Given the description of an element on the screen output the (x, y) to click on. 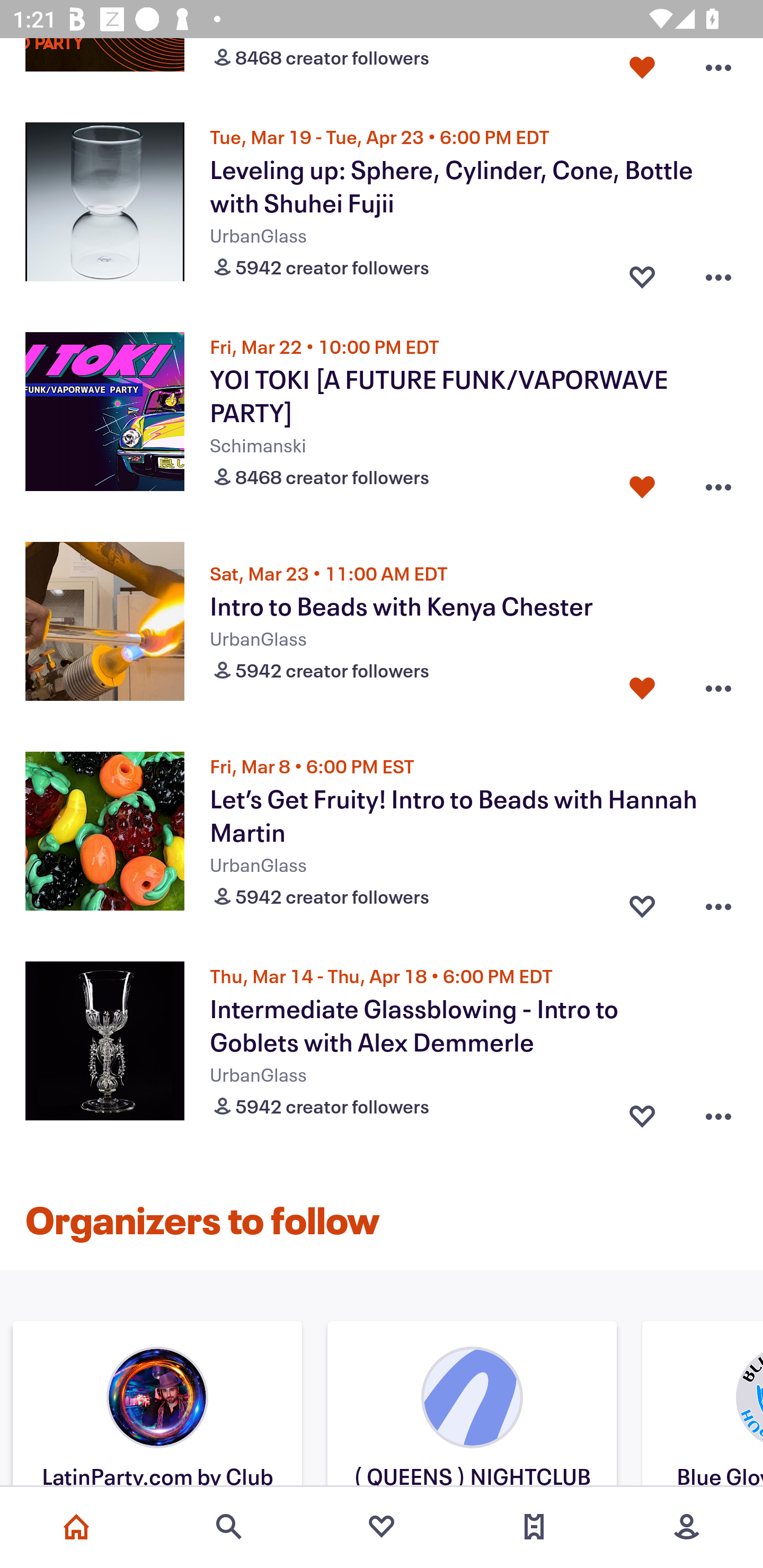
Favorite button (642, 67)
Overflow menu button (718, 67)
Favorite button (642, 273)
Overflow menu button (718, 273)
Favorite button (642, 481)
Overflow menu button (718, 481)
Favorite button (642, 687)
Overflow menu button (718, 687)
Favorite button (642, 902)
Overflow menu button (718, 902)
Favorite button (642, 1112)
Overflow menu button (718, 1112)
Organizer's image LatinParty.com by Club Cache (157, 1406)
Organizer's image ( QUEENS ) NIGHTCLUB (471, 1406)
Home (76, 1526)
Search events (228, 1526)
Favorites (381, 1526)
Tickets (533, 1526)
More (686, 1526)
